Given the description of an element on the screen output the (x, y) to click on. 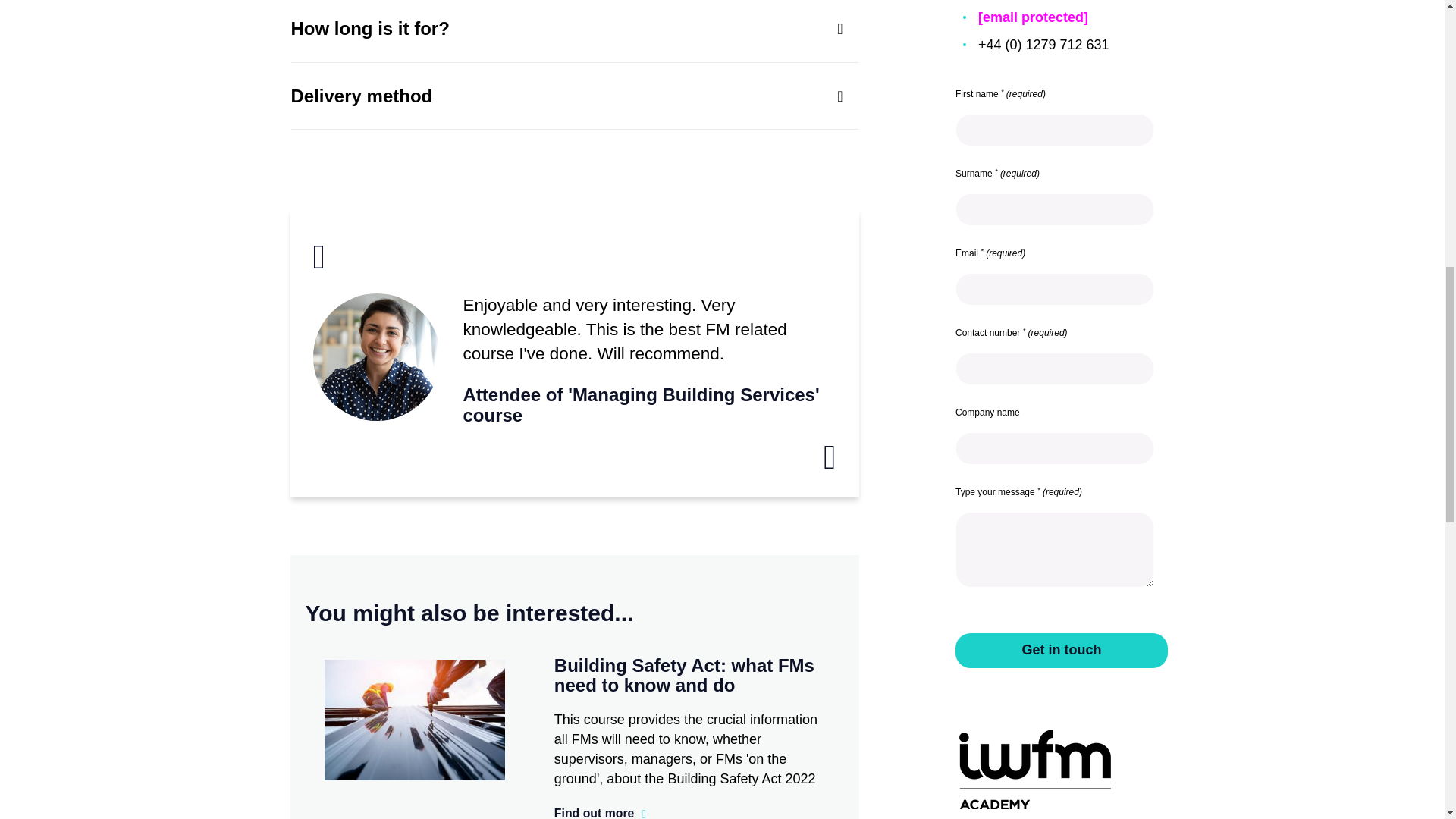
Get in touch (1061, 650)
Book now (600, 812)
